Given the description of an element on the screen output the (x, y) to click on. 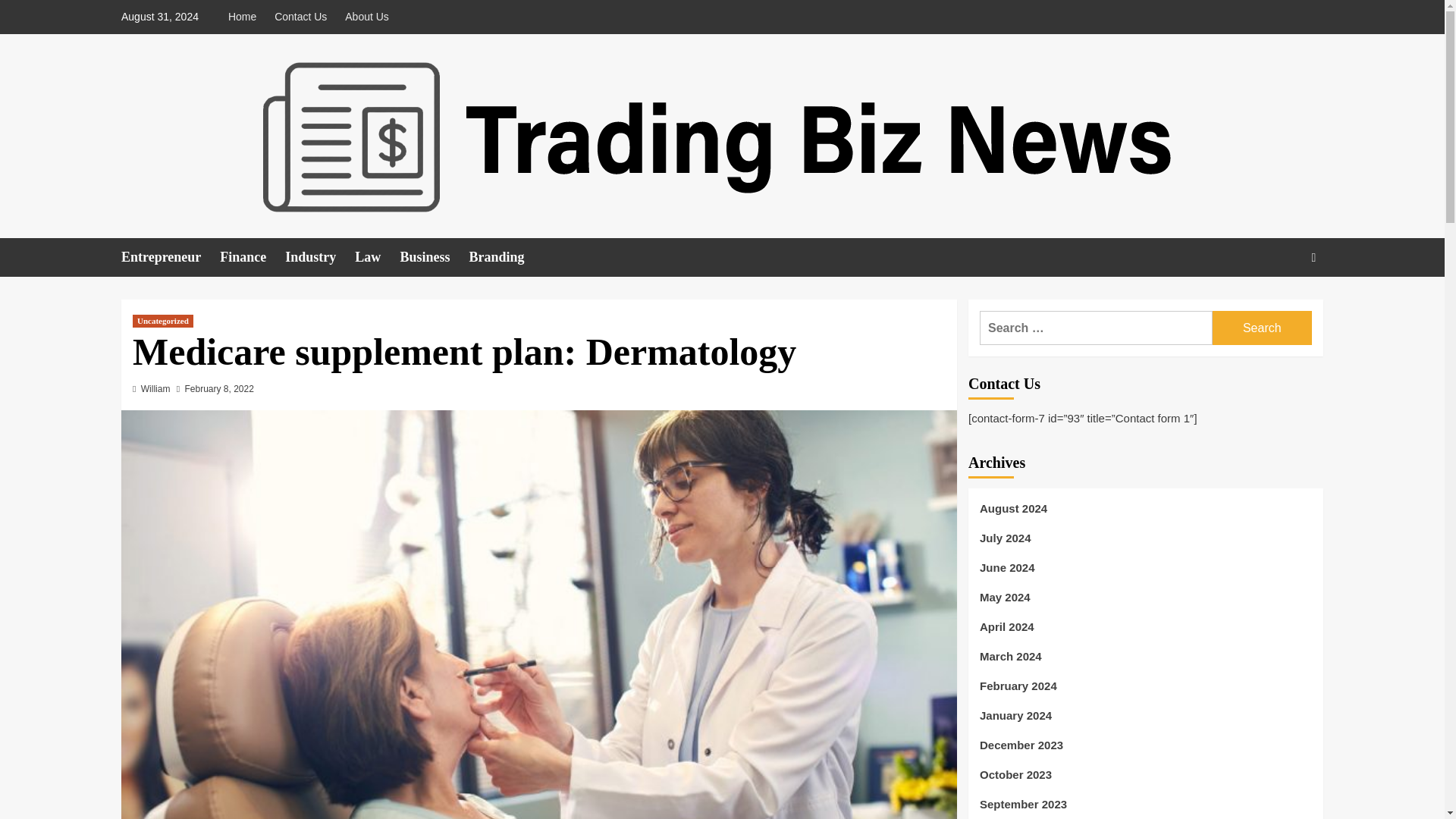
February 8, 2022 (218, 388)
Business (433, 257)
Branding (505, 257)
Search (1261, 327)
Uncategorized (162, 320)
Search (1278, 303)
Industry (320, 257)
About Us (366, 17)
Search (1261, 327)
Entrepreneur (169, 257)
